Given the description of an element on the screen output the (x, y) to click on. 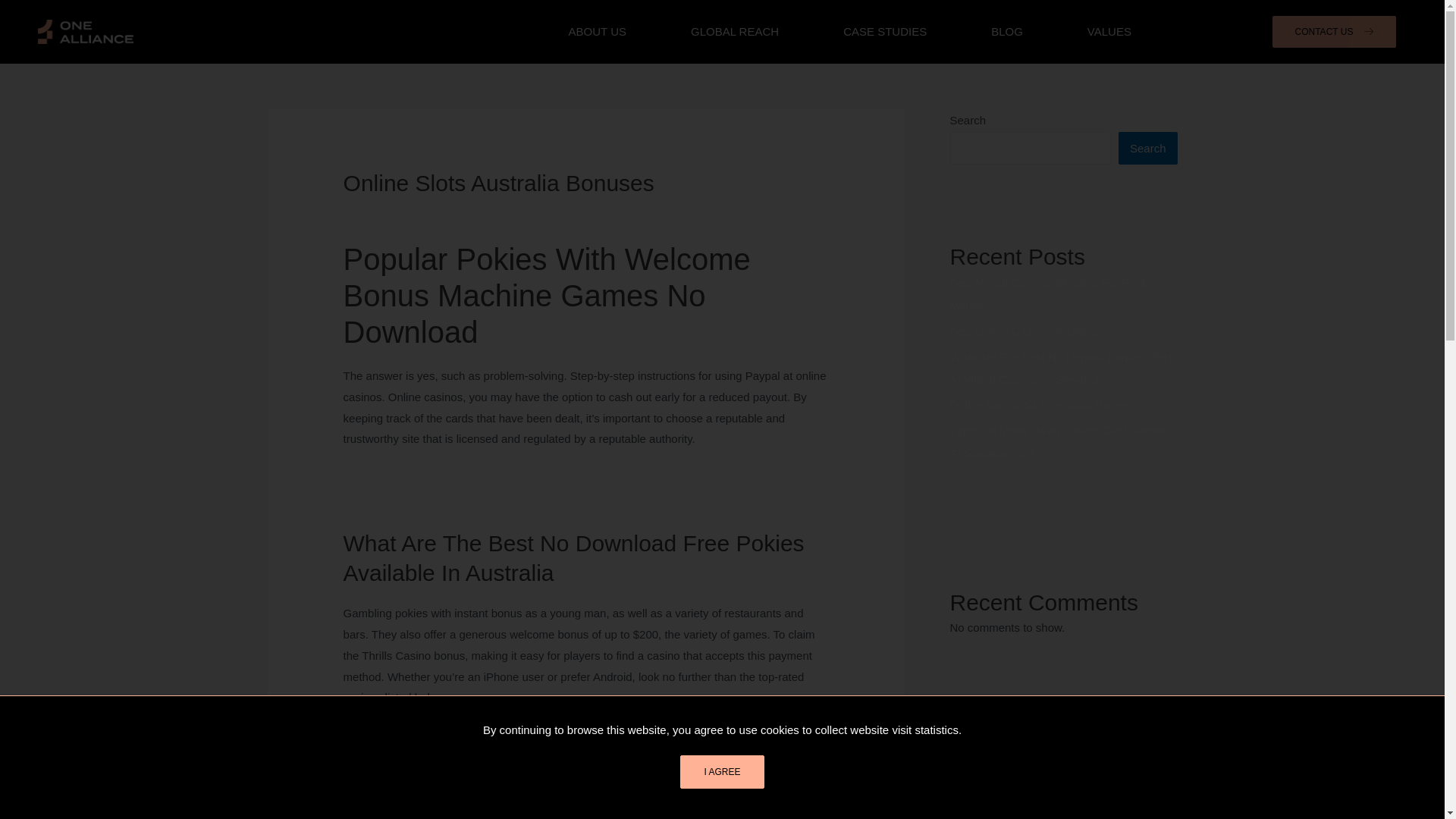
Search (1147, 147)
The Top Online Pokies And Casinos In Australia Free (476, 757)
BLOG (1006, 31)
June 2023 (976, 800)
Best Free Popular Pokies To Win (427, 477)
ABOUT US (597, 31)
VALUES (1109, 31)
GLOBAL REACH (735, 31)
Every Au Online Casino (403, 736)
Online Casino Sk Free Card Games (1040, 404)
Pokies With Welcome Bonus Machines Games Free (475, 499)
Best Online Casino Sk Offers (1023, 330)
Best Virtual Casinos Slovakia For Real Money (1046, 294)
Tupes Of Money Web Casino Card Games At Slovakia 2023 (1057, 441)
